Given the description of an element on the screen output the (x, y) to click on. 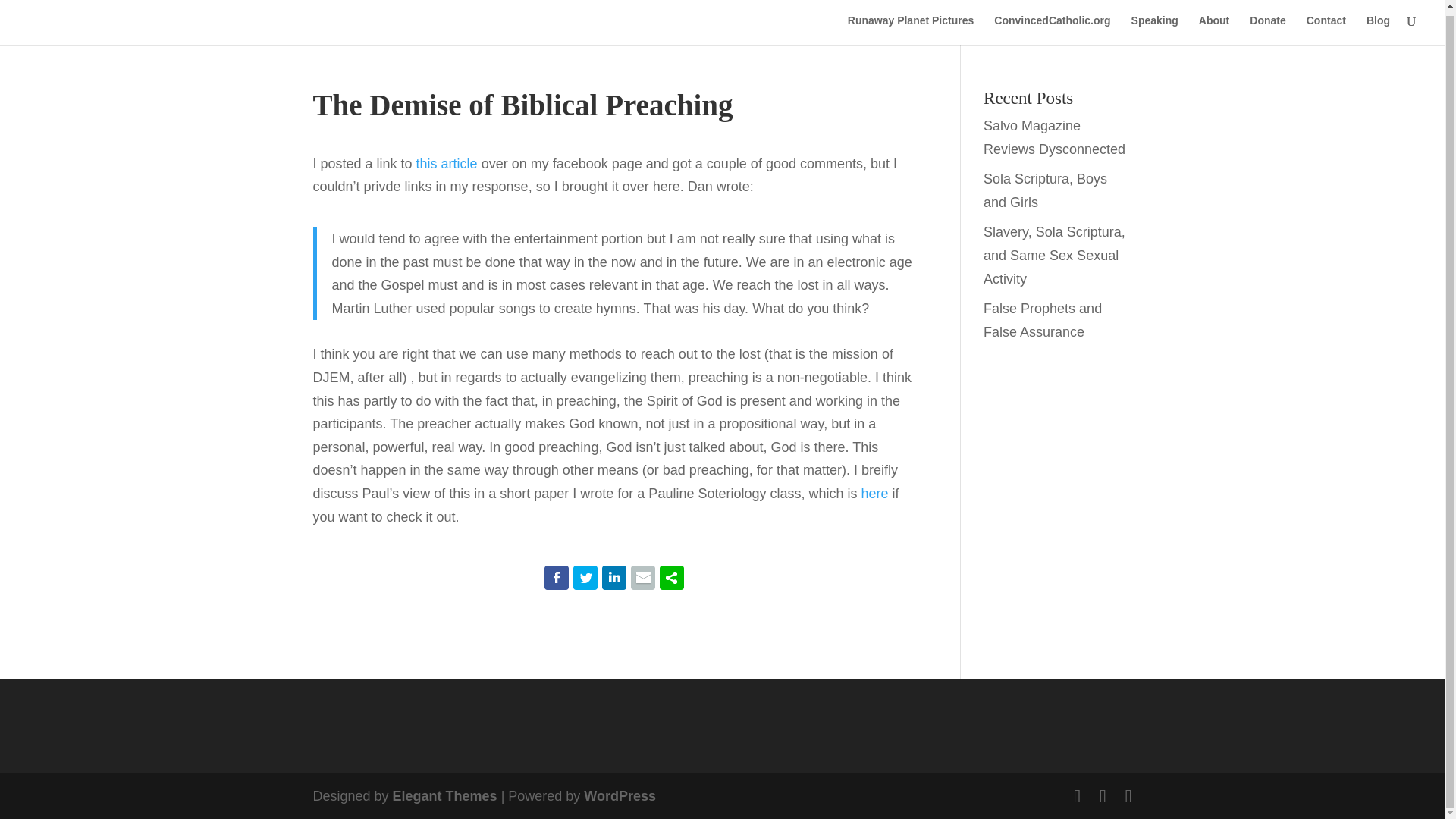
Salvo Magazine Reviews Dysconnected (1054, 137)
About (1213, 30)
this article (446, 163)
Elegant Themes (445, 795)
Donate (1267, 30)
Runaway Planet Pictures (910, 30)
Sola Scriptura, Boys and Girls (1045, 190)
Slavery, Sola Scriptura, and Same Sex Sexual Activity (1054, 254)
Premium WordPress Themes (445, 795)
Contact (1325, 30)
here (874, 493)
ConvincedCatholic.org (1051, 30)
Speaking (1154, 30)
WordPress (619, 795)
False Prophets and False Assurance (1043, 320)
